Given the description of an element on the screen output the (x, y) to click on. 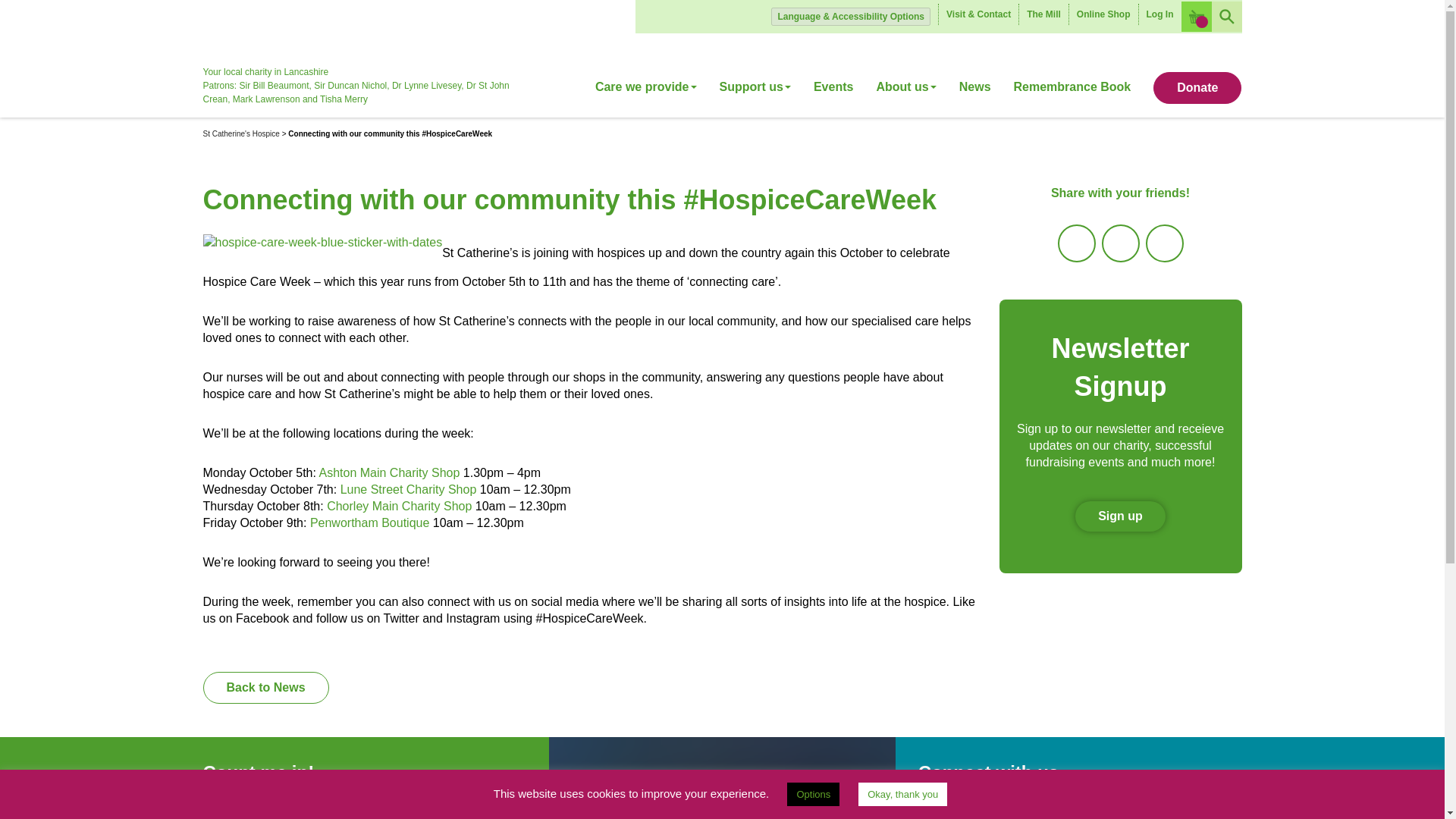
Log In (1159, 14)
Care we provide (651, 92)
The Mill (1043, 14)
Online Shop (1103, 14)
Support us (754, 92)
